Given the description of an element on the screen output the (x, y) to click on. 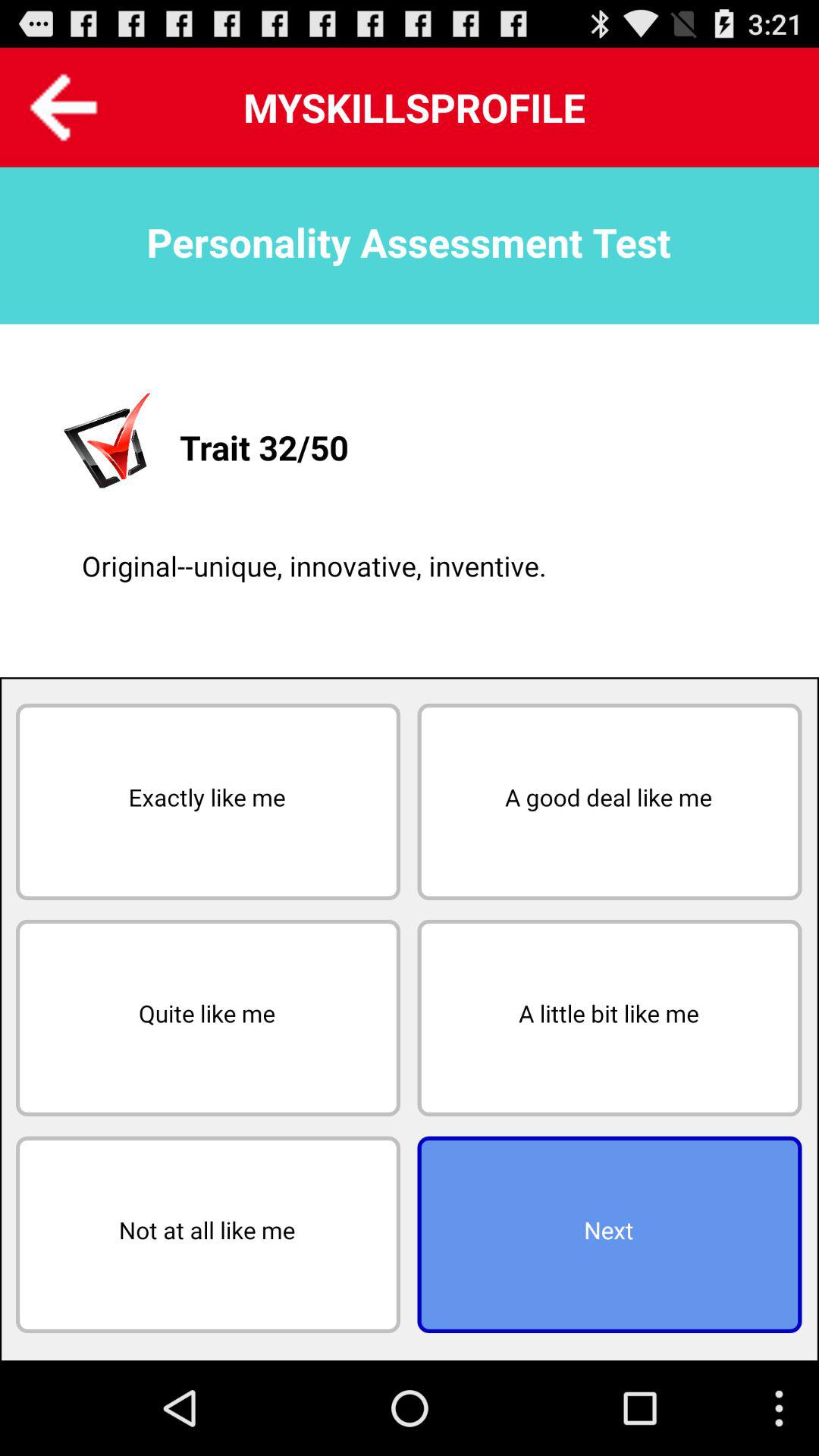
jump until next item (609, 1234)
